Given the description of an element on the screen output the (x, y) to click on. 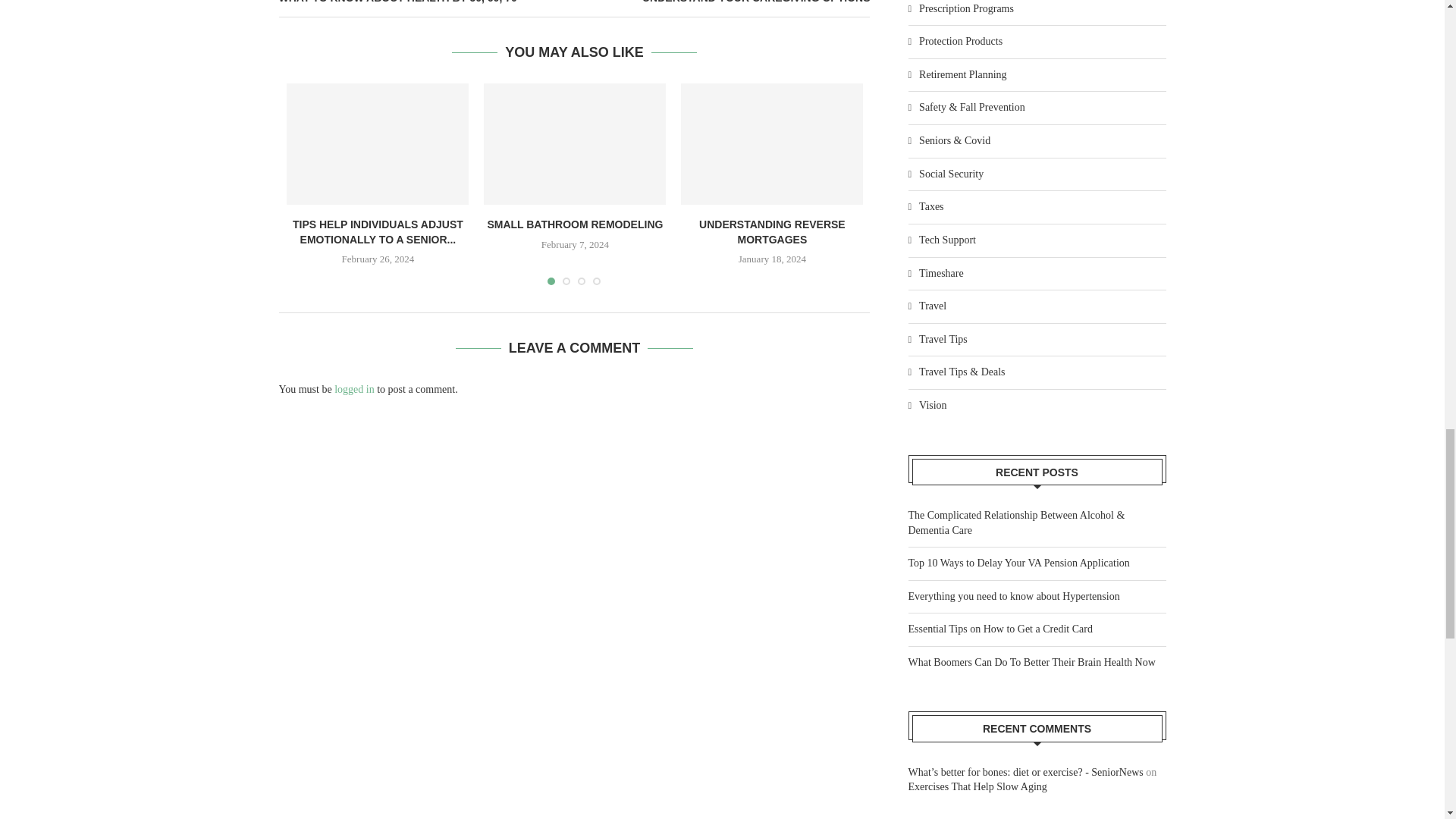
Understanding Reverse Mortgages (772, 143)
Small Bathroom Remodeling (574, 143)
